Given the description of an element on the screen output the (x, y) to click on. 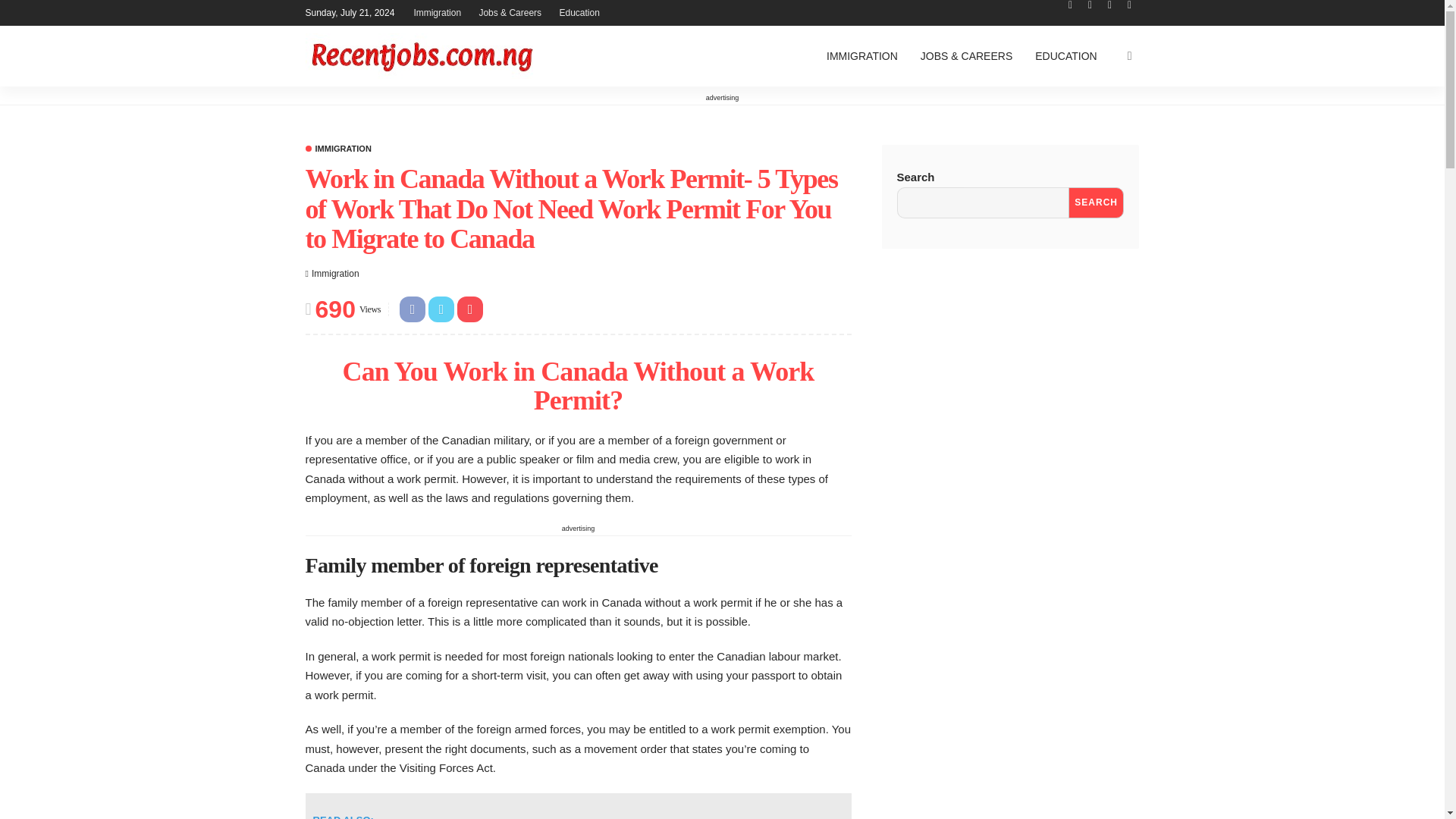
pinterest (1109, 5)
IMMIGRATION (861, 55)
search (1129, 55)
Immigration (335, 273)
EDUCATION (1065, 55)
instagram (1128, 5)
twitter (1089, 5)
Immigration (577, 806)
facebook (335, 273)
IMMIGRATION (1069, 5)
Education (337, 148)
Immigration (579, 12)
Immigration (337, 148)
